Given the description of an element on the screen output the (x, y) to click on. 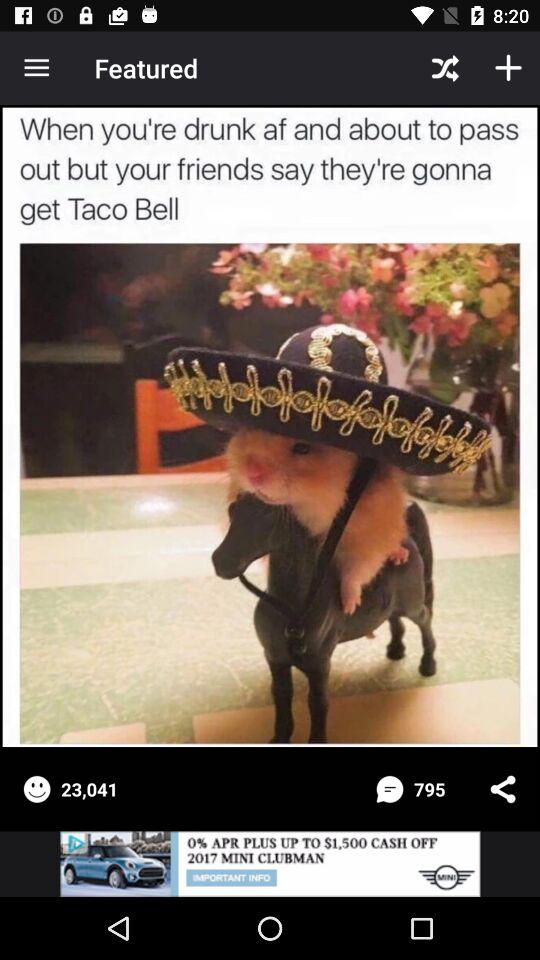
advertisement (270, 864)
